Given the description of an element on the screen output the (x, y) to click on. 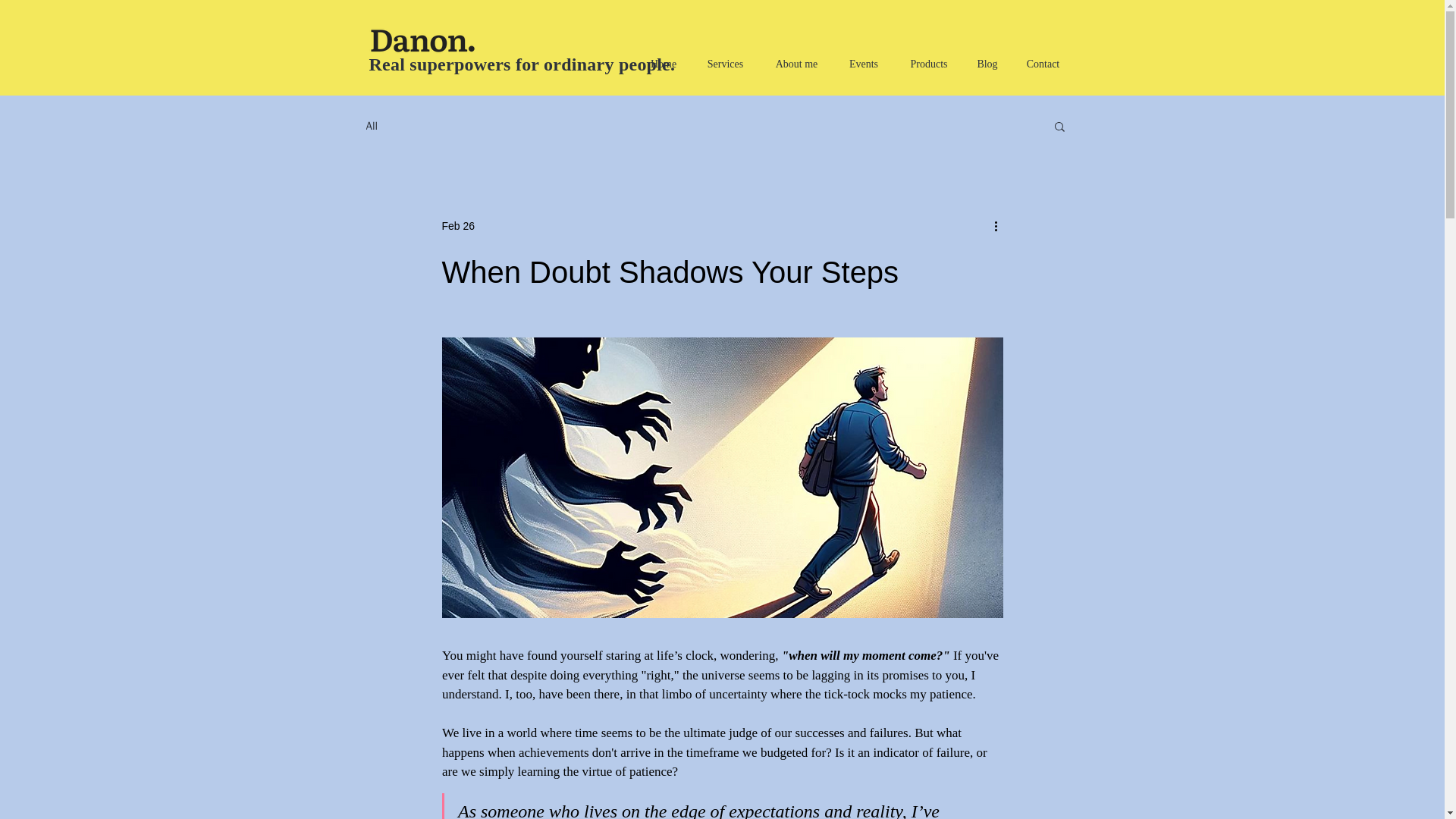
Blog (986, 64)
About me (797, 64)
Home (662, 64)
Events (863, 64)
Products (928, 64)
Feb 26 (457, 225)
Contact (1042, 64)
